Given the description of an element on the screen output the (x, y) to click on. 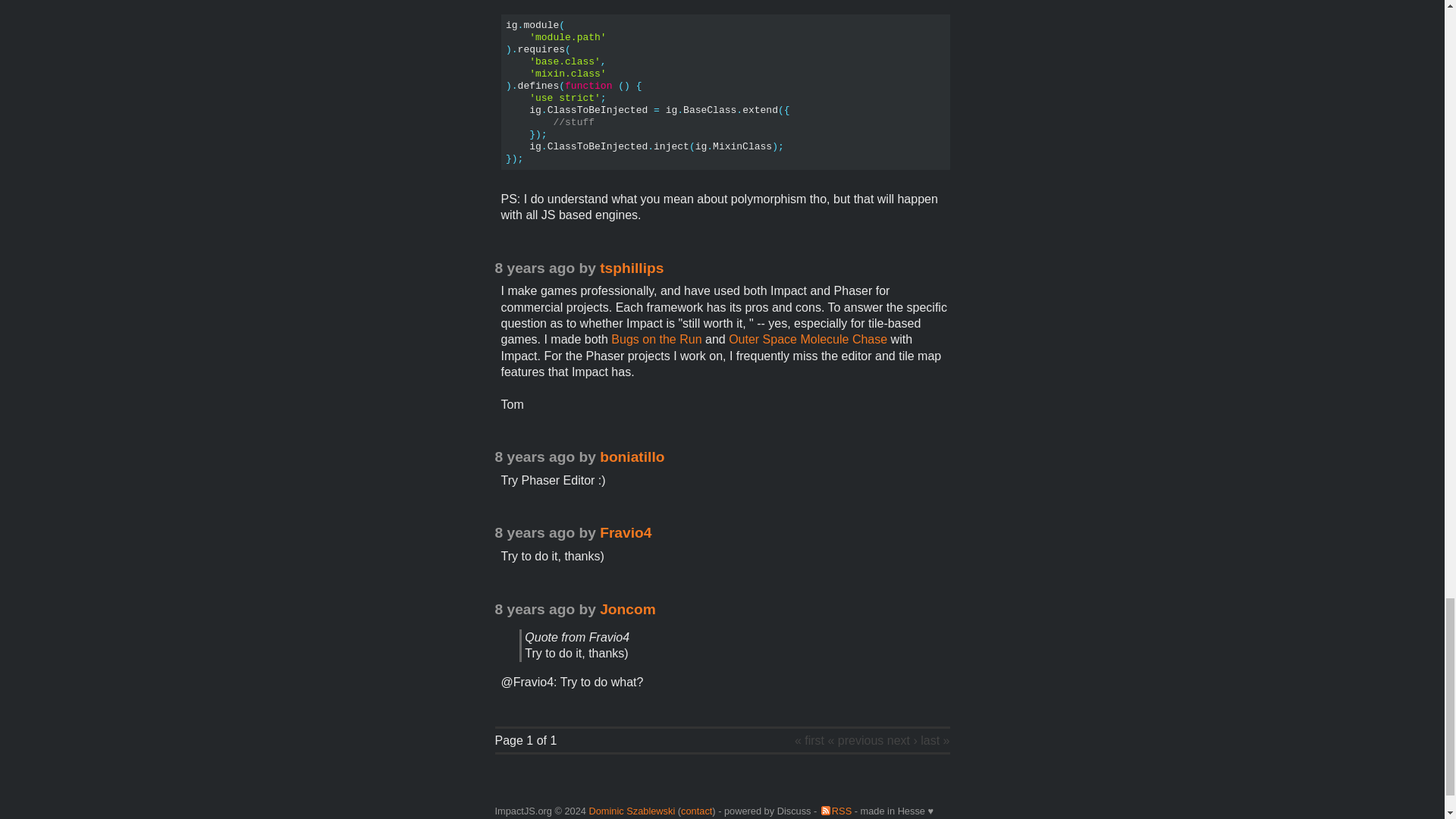
Fravio4 (624, 532)
Wednesday, Jan 27th 11:24pm (535, 268)
Wednesday, Nov 2nd 1:27pm (535, 532)
tsphillips (631, 268)
Wednesday, Nov 2nd 9:21pm (535, 609)
RSS (835, 810)
contact (696, 810)
Saturday, Sep 3rd 4:57pm (535, 456)
Bugs on the Run (656, 338)
boniatillo (631, 456)
Joncom (627, 609)
Outer Space Molecule Chase (807, 338)
Dominic Szablewski (631, 810)
